Given the description of an element on the screen output the (x, y) to click on. 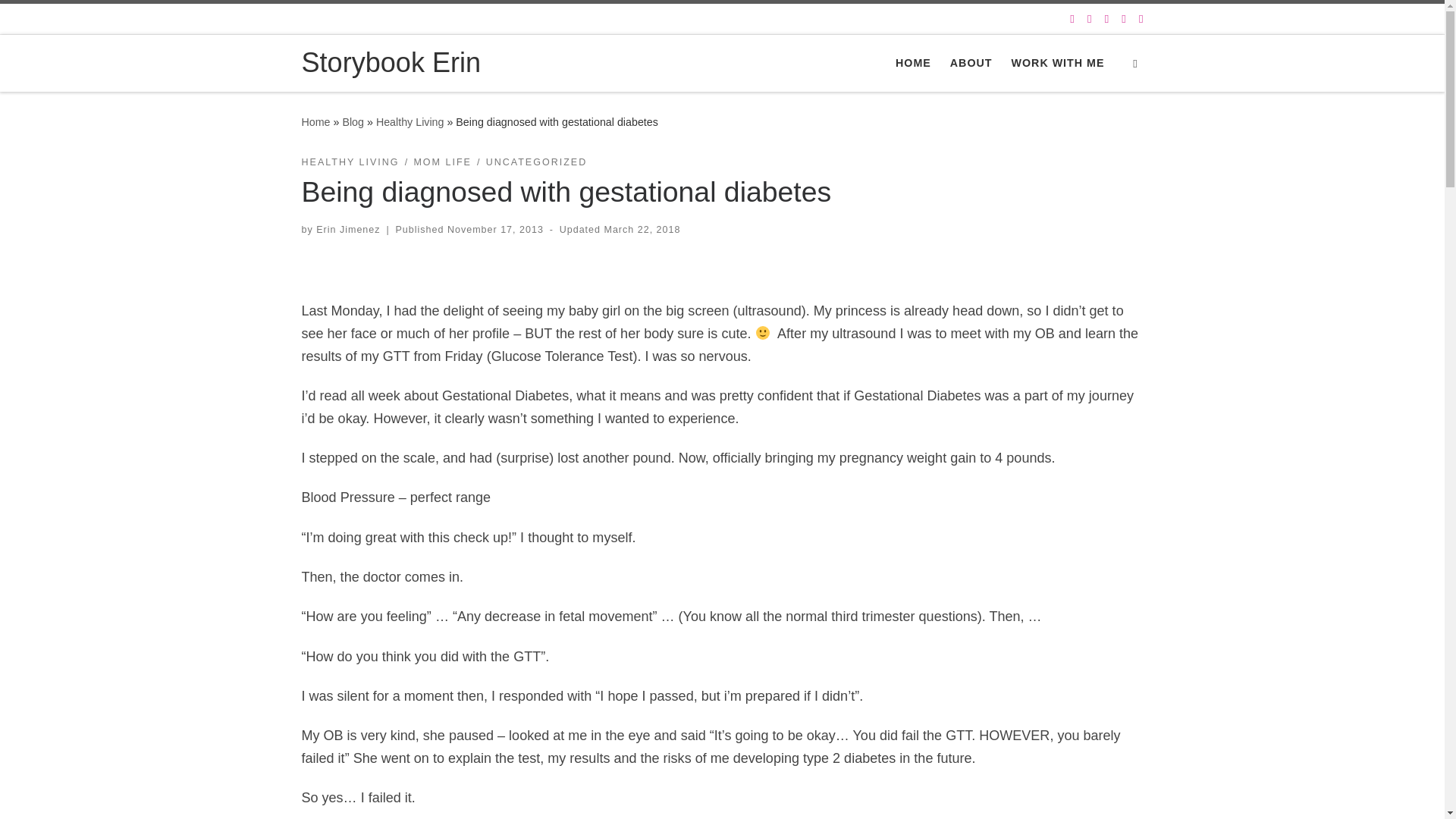
Storybook Erin (391, 62)
View all posts by Erin Jimenez (347, 229)
View all posts in Mom Life (442, 162)
Healthy Living (409, 121)
Erin Jimenez (347, 229)
View all posts in Uncategorized (537, 162)
Storybook Erin (315, 121)
Blog (353, 121)
Home (315, 121)
WORK WITH ME (1057, 63)
